Given the description of an element on the screen output the (x, y) to click on. 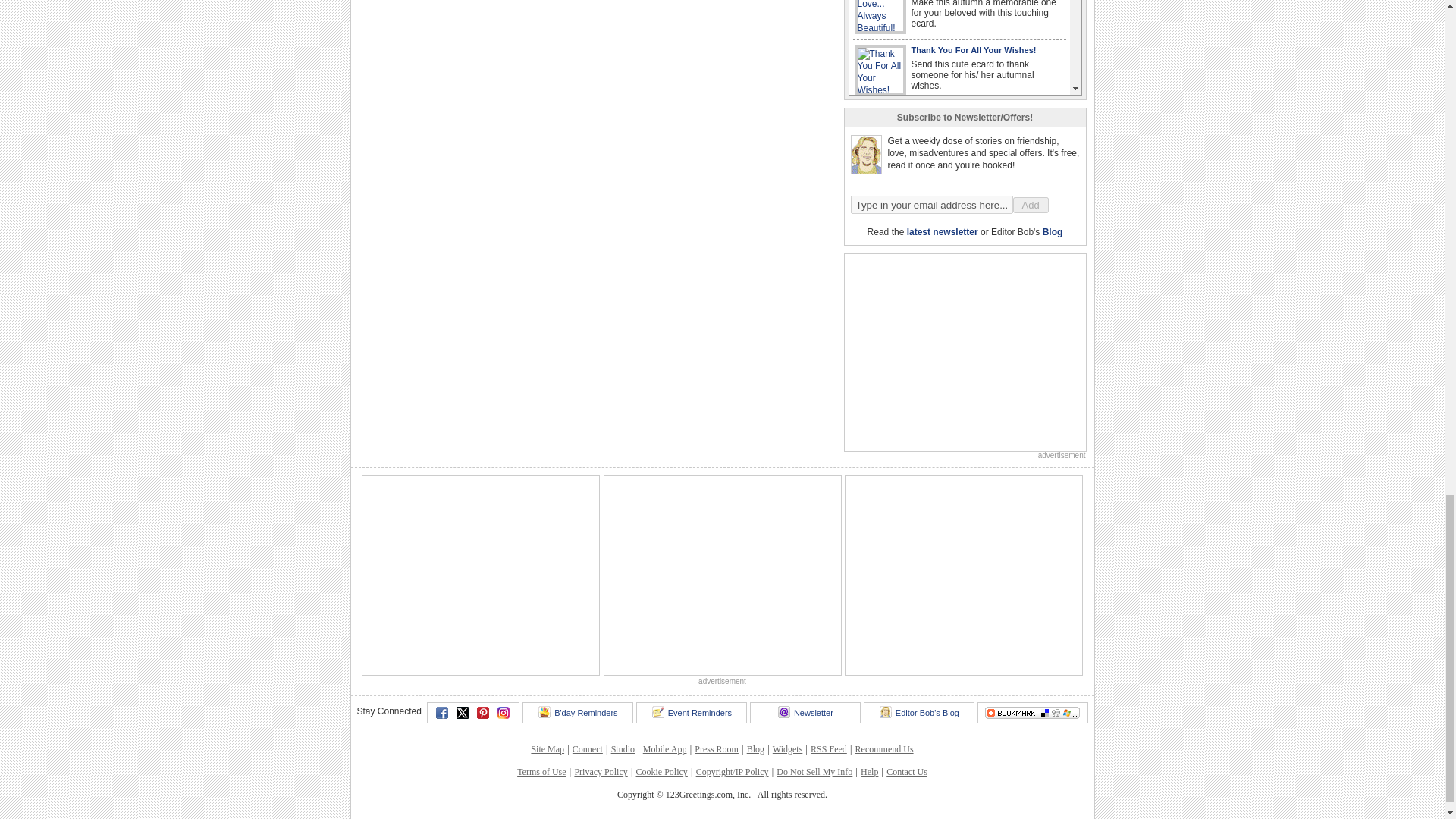
Type in your email address here... (931, 204)
